Given the description of an element on the screen output the (x, y) to click on. 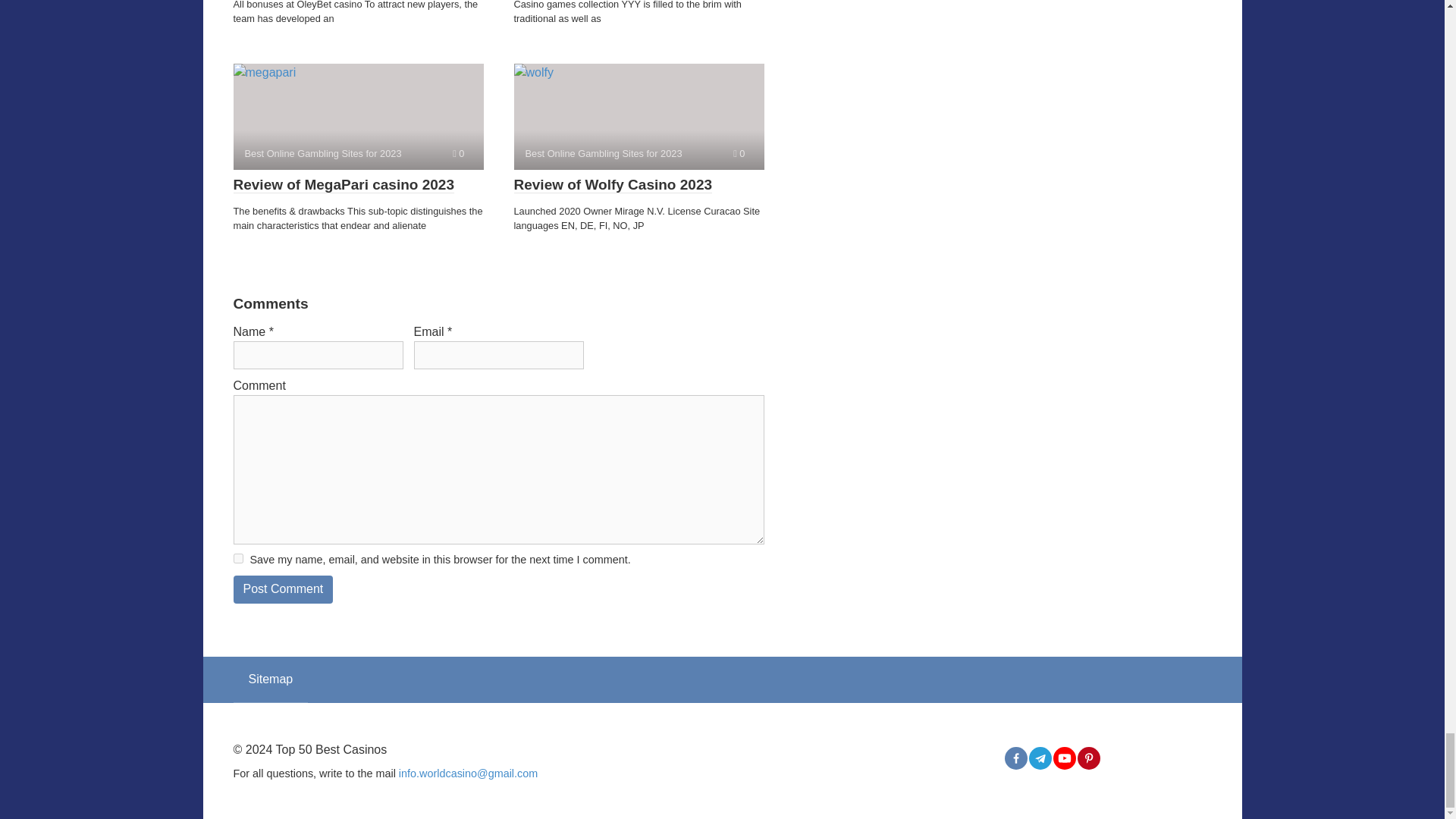
Comments (458, 153)
yes (237, 558)
Comments (738, 153)
Post Comment (282, 589)
